Given the description of an element on the screen output the (x, y) to click on. 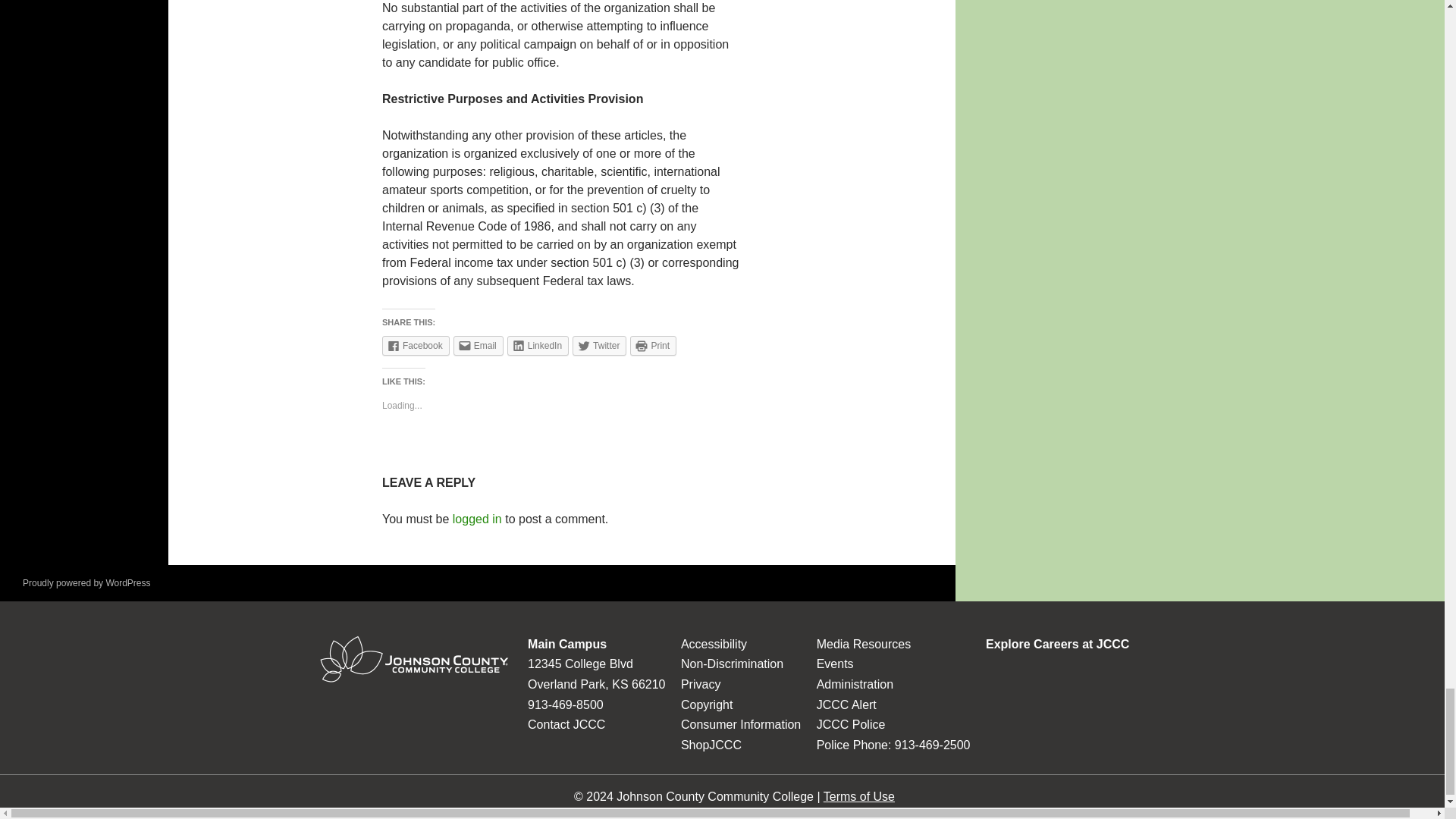
Click to share on Facebook (415, 345)
Click to print (653, 345)
Click to share on LinkedIn (537, 345)
LinkedIn (537, 345)
Email (477, 345)
Facebook (415, 345)
Twitter (599, 345)
Click to share on Twitter (599, 345)
Click to email this to a friend (477, 345)
